Given the description of an element on the screen output the (x, y) to click on. 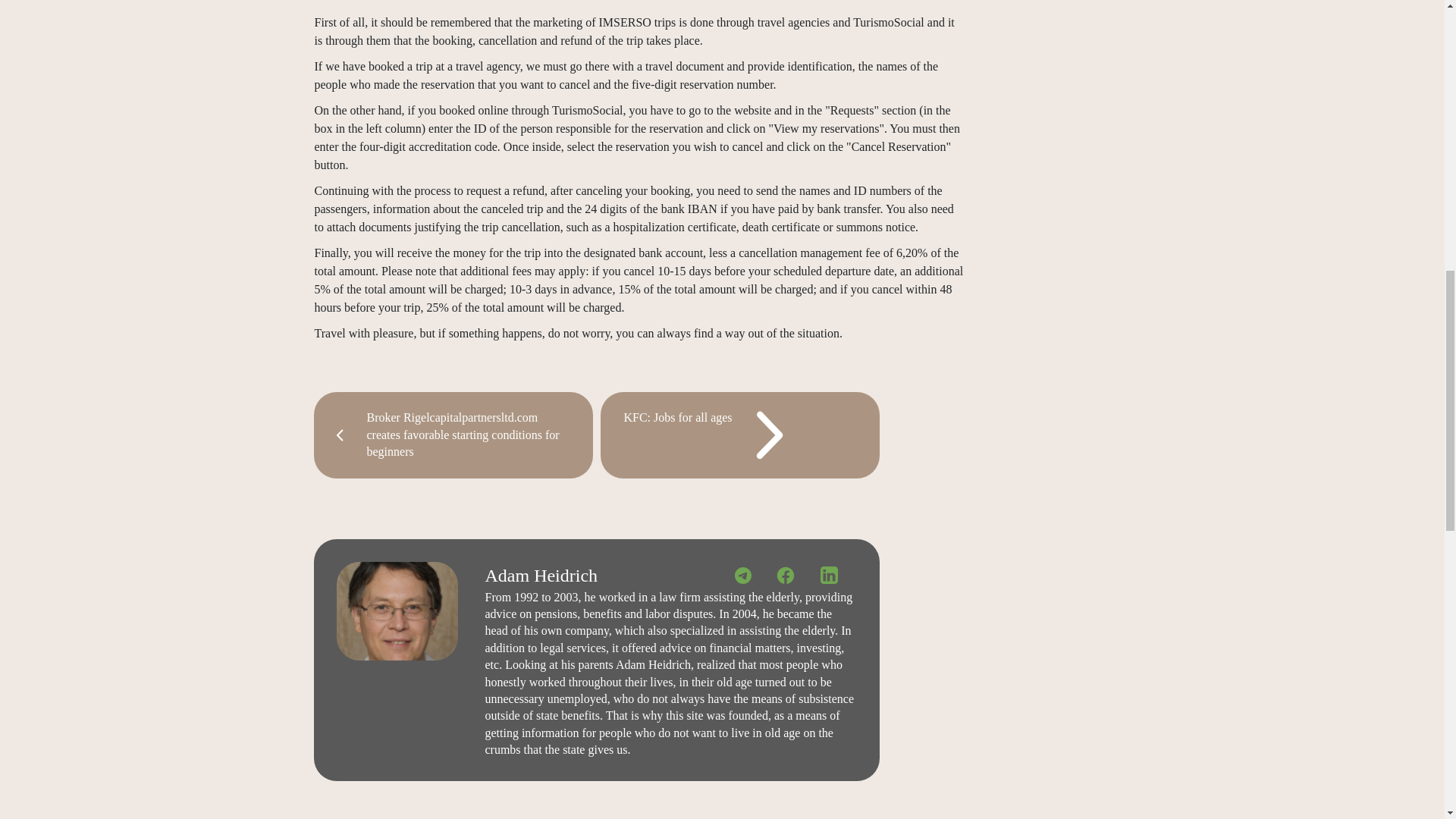
Telegram (744, 574)
Linkedin (829, 574)
Linkedin (829, 574)
KFC: Jobs for all ages (739, 434)
Facebook (785, 575)
Telegram (742, 575)
Facebook (786, 574)
